Given the description of an element on the screen output the (x, y) to click on. 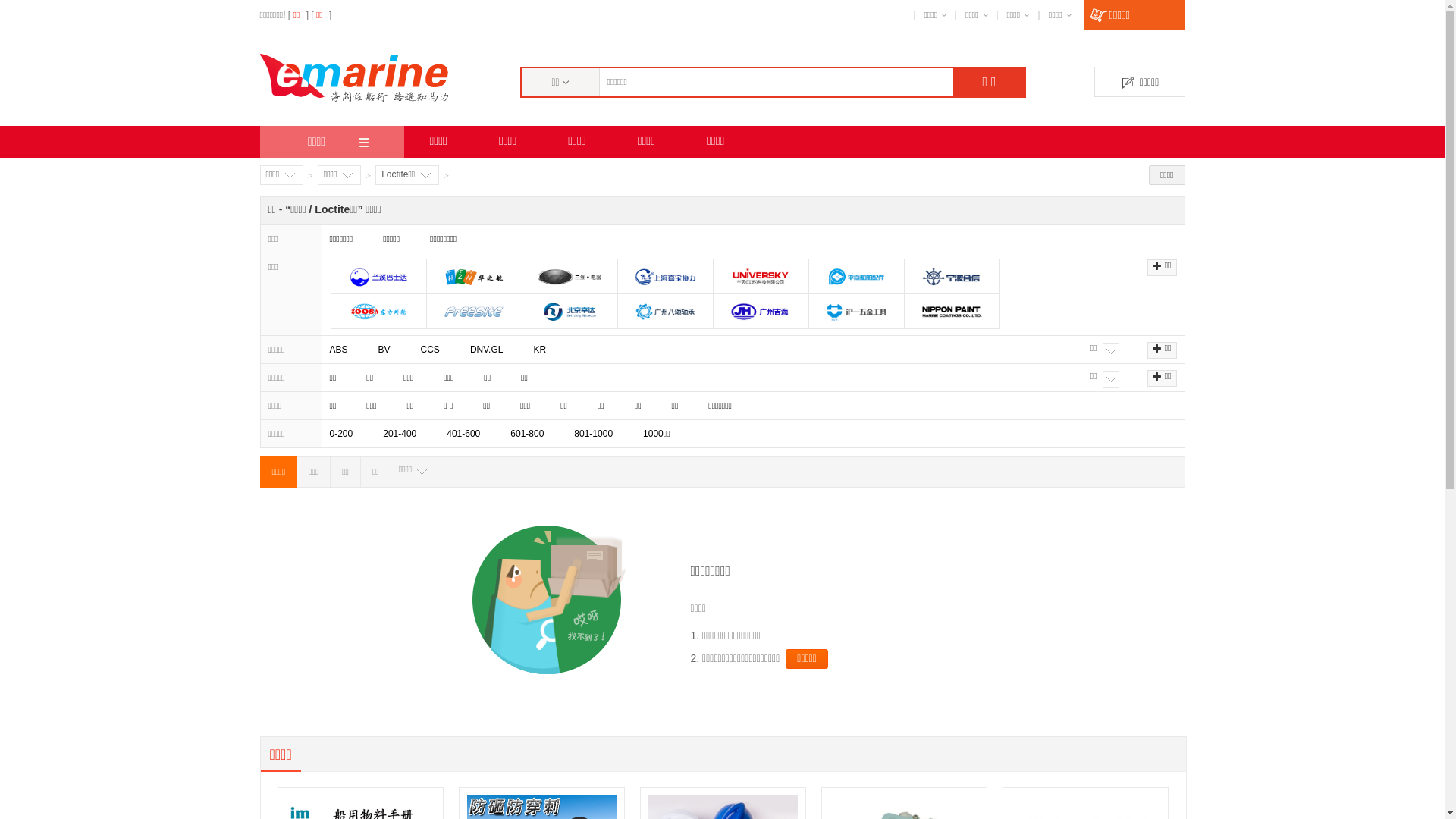
DNV.GL Element type: text (486, 349)
201-400 Element type: text (399, 433)
801-1000 Element type: text (593, 433)
601-800 Element type: text (526, 433)
0-200 Element type: text (340, 433)
ABS Element type: text (338, 349)
401-600 Element type: text (463, 433)
CCS Element type: text (429, 349)
KR Element type: text (539, 349)
BV Element type: text (384, 349)
